Given the description of an element on the screen output the (x, y) to click on. 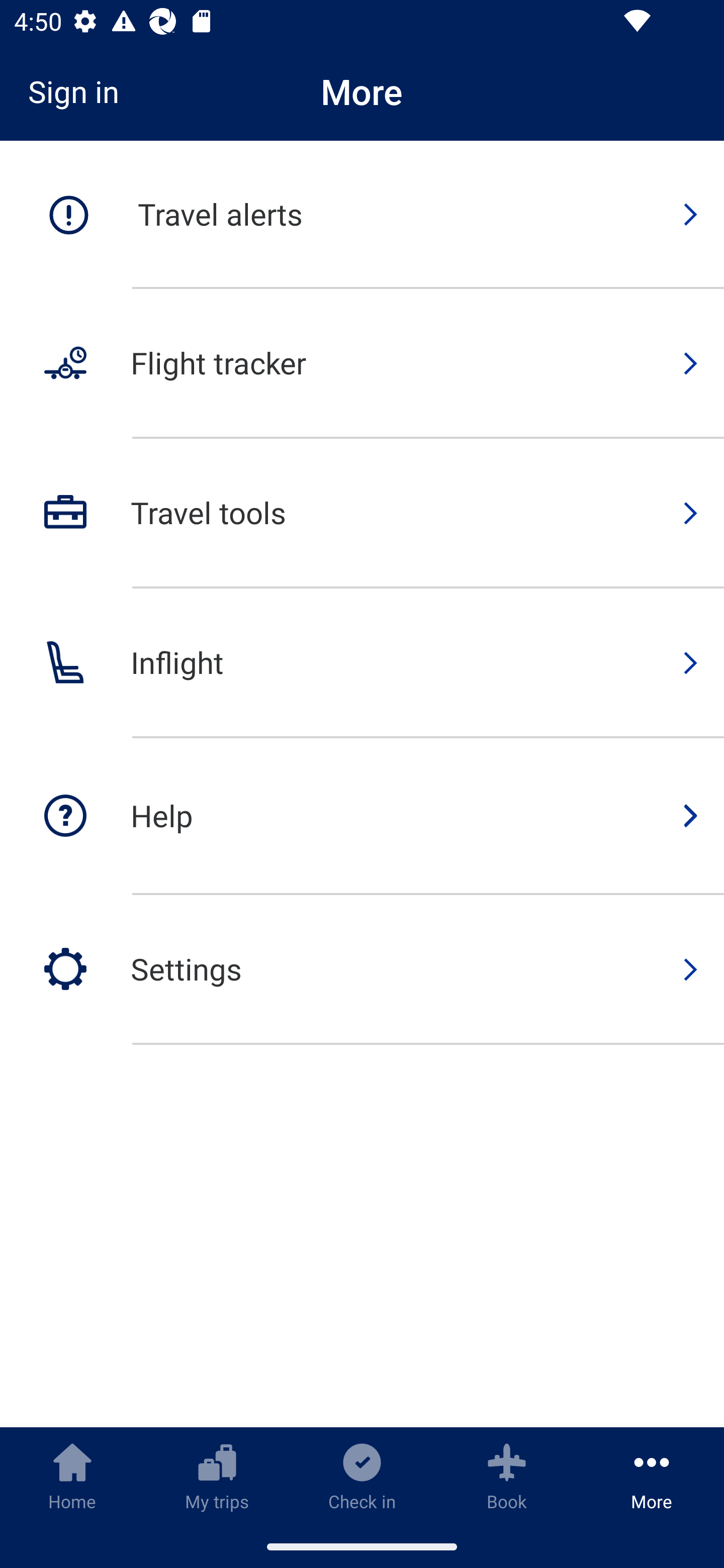
Sign in (80, 91)
Travel alerts (362, 214)
Flight tracker (362, 363)
Travel tools (362, 513)
Inflight (362, 663)
Help (362, 816)
Settings (362, 969)
Home (72, 1475)
My trips (216, 1475)
Check in (361, 1475)
Book (506, 1475)
